Given the description of an element on the screen output the (x, y) to click on. 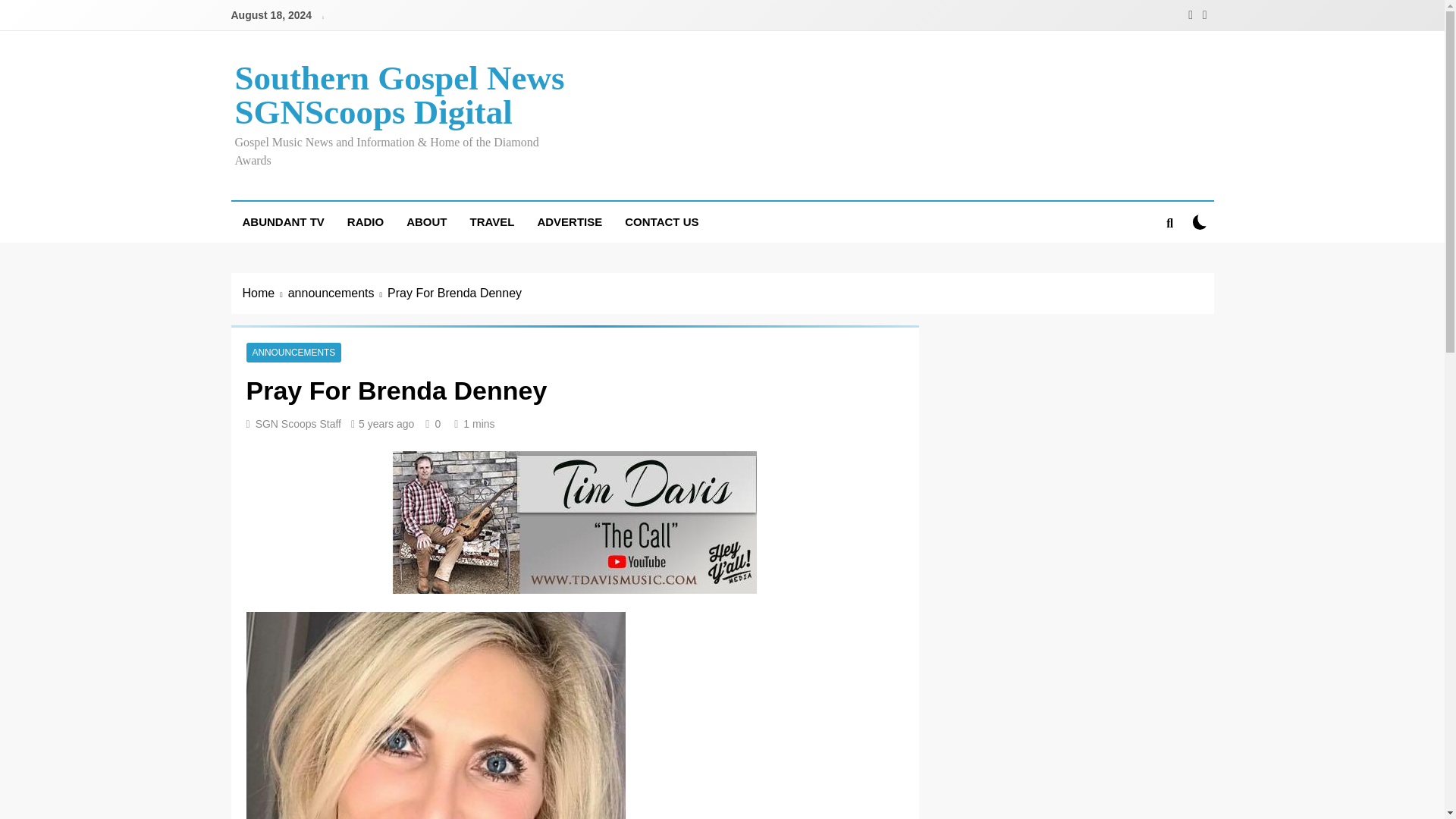
RADIO (365, 221)
ABUNDANT TV (282, 221)
ADVERTISE (568, 221)
CONTACT US (661, 221)
SGN Scoops Staff (298, 423)
ABOUT (426, 221)
TRAVEL (491, 221)
on (1199, 221)
ANNOUNCEMENTS (292, 352)
5 years ago (385, 423)
